Given the description of an element on the screen output the (x, y) to click on. 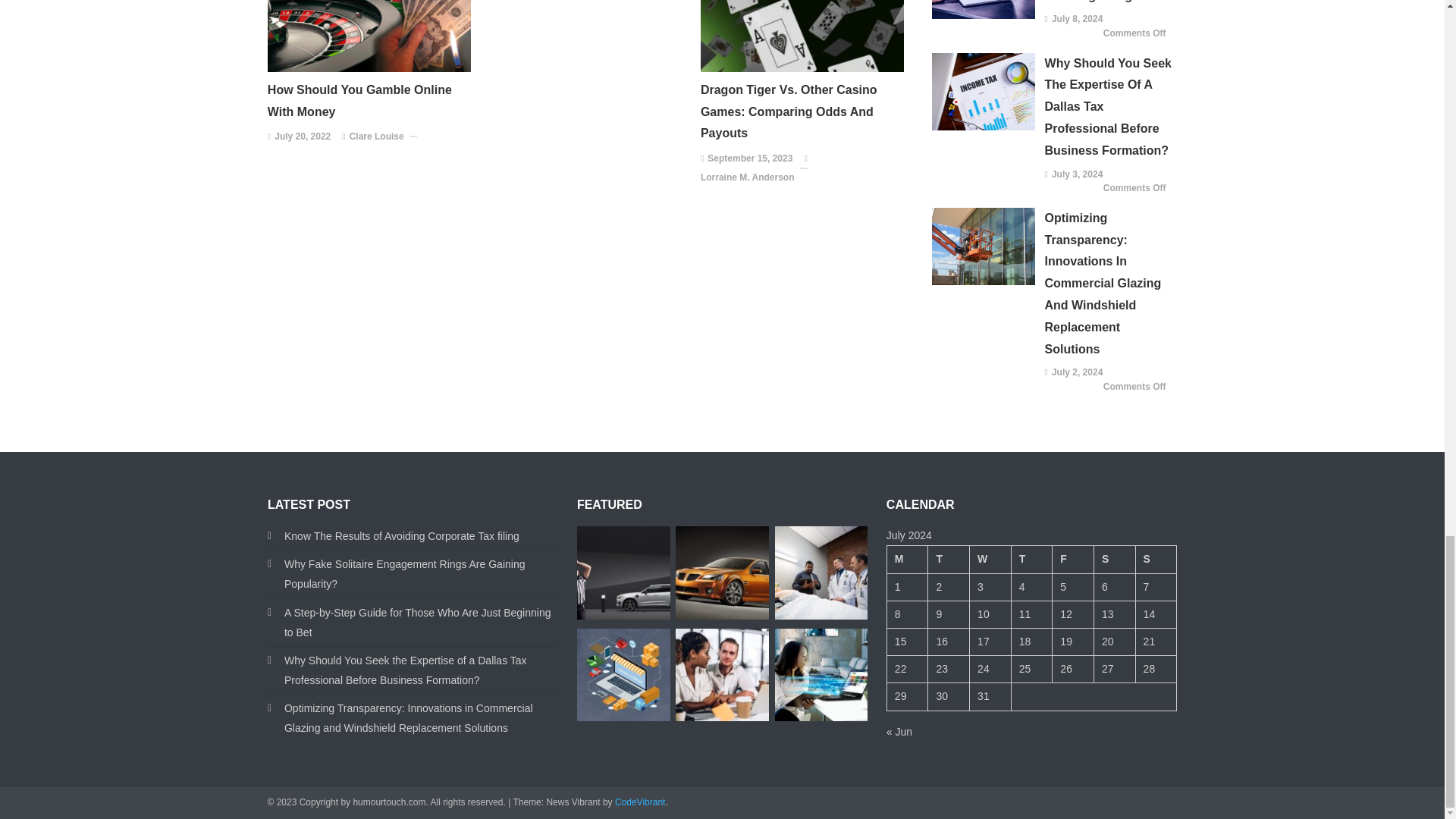
Friday (1073, 559)
Thursday (1031, 559)
Sunday (1155, 559)
Monday (907, 559)
Tuesday (948, 559)
Wednesday (990, 559)
Saturday (1114, 559)
